Given the description of an element on the screen output the (x, y) to click on. 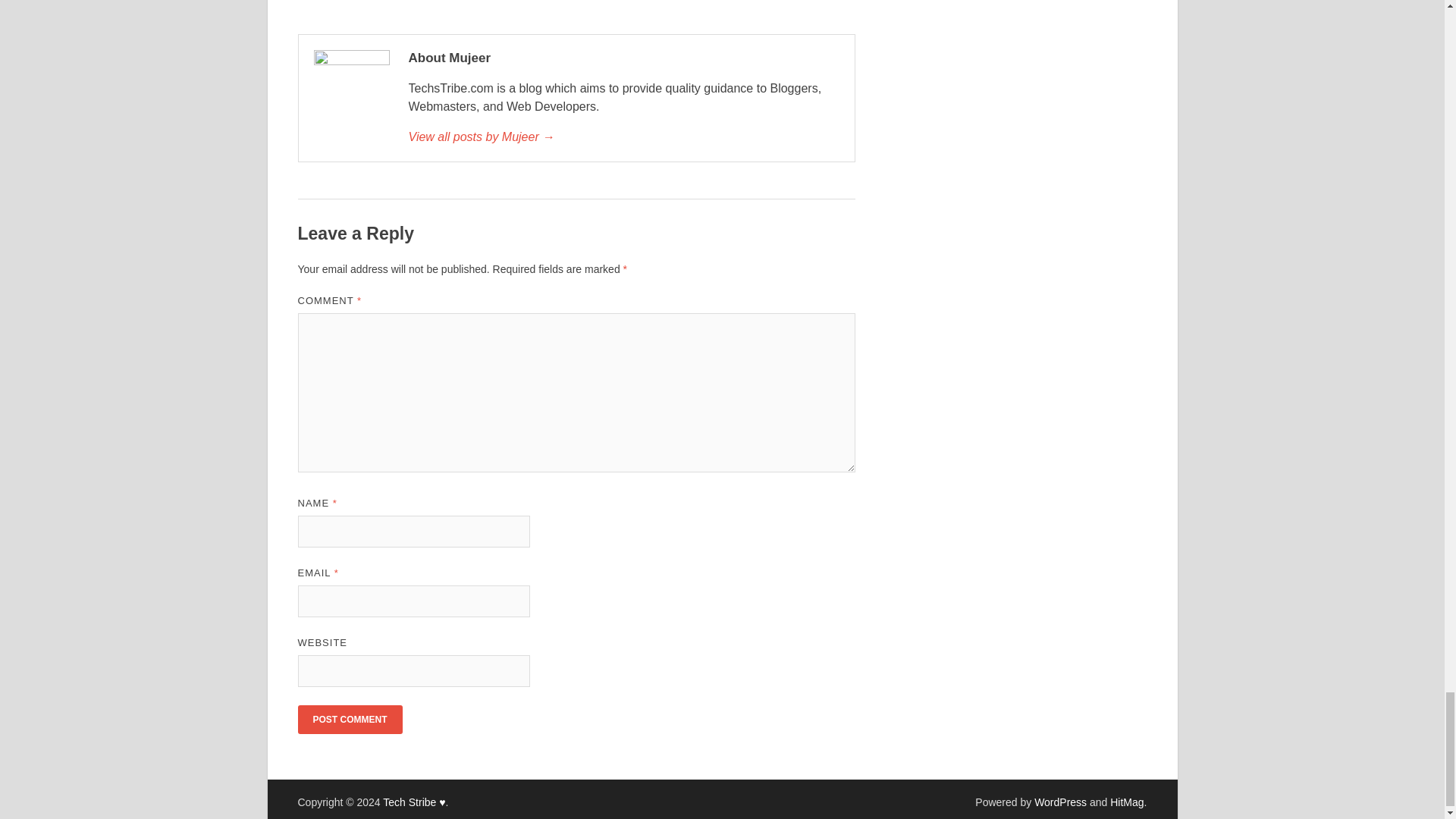
Mujeer (622, 136)
WordPress (1059, 802)
HitMag WordPress Theme (1125, 802)
Post Comment (349, 719)
